Given the description of an element on the screen output the (x, y) to click on. 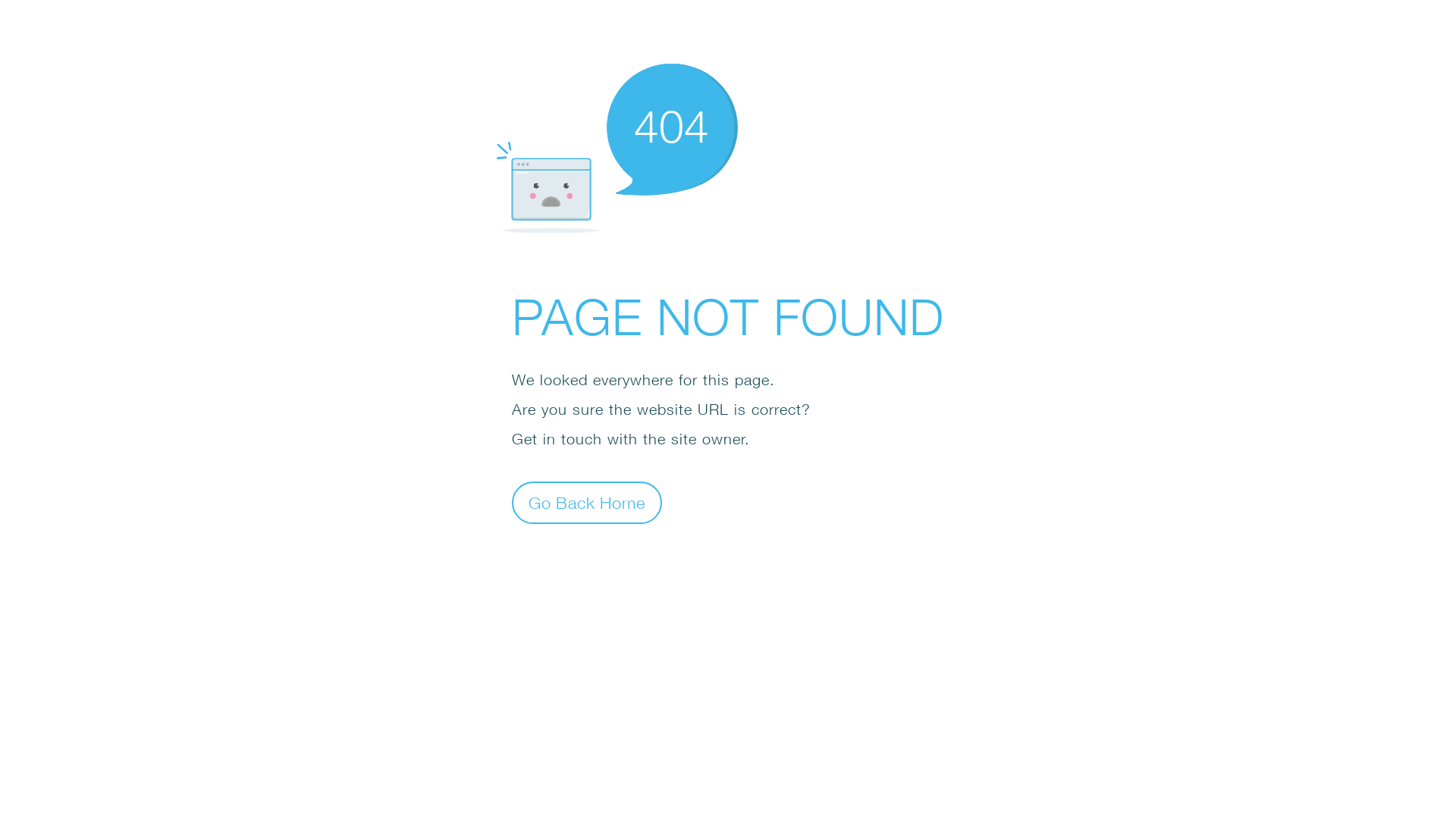
Go Back Home Element type: text (586, 502)
